Given the description of an element on the screen output the (x, y) to click on. 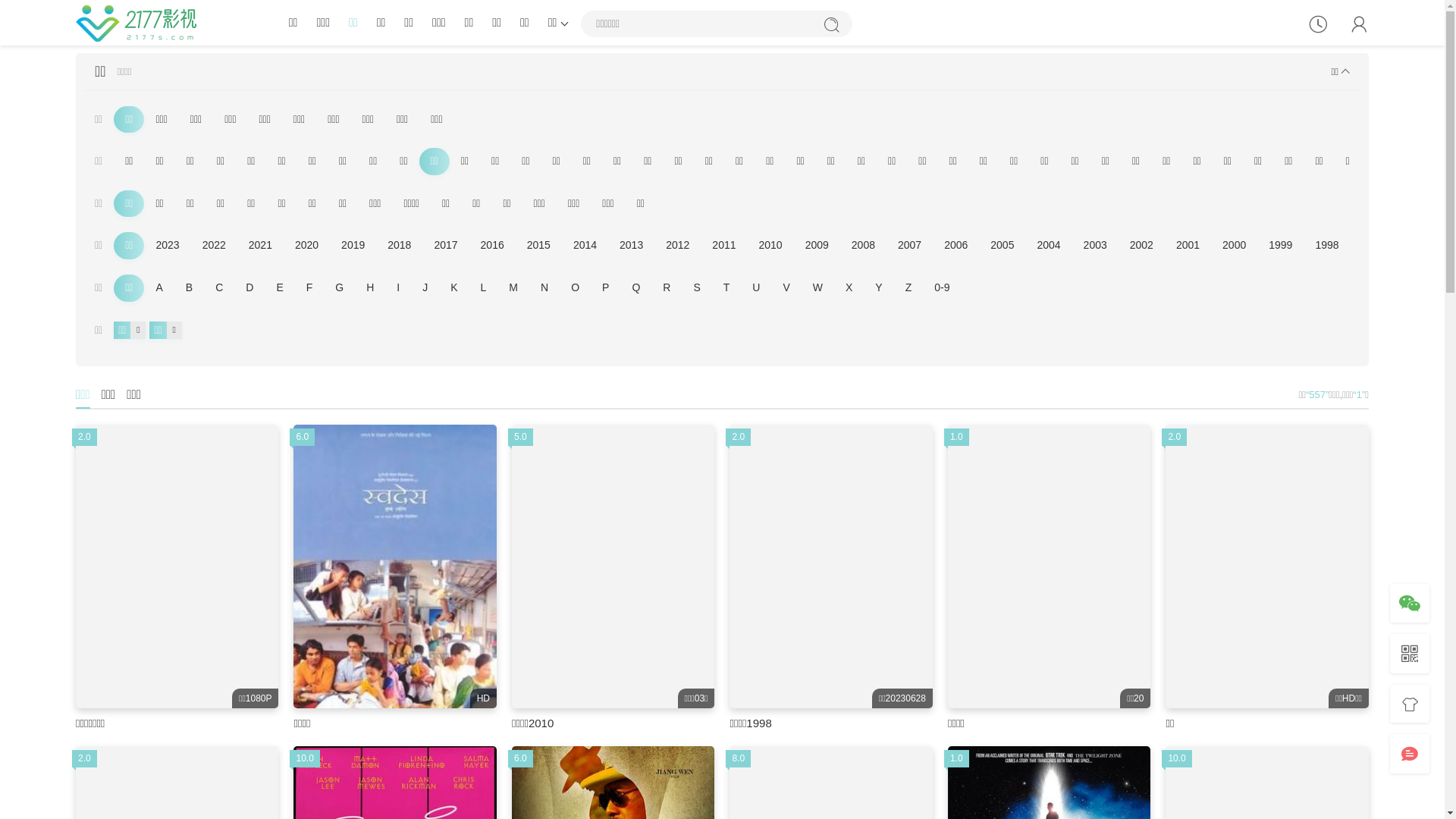
P Element type: text (605, 287)
G Element type: text (338, 287)
2009 Element type: text (816, 245)
E Element type: text (279, 287)
2022 Element type: text (214, 245)
A Element type: text (158, 287)
T Element type: text (726, 287)
2000 Element type: text (1234, 245)
2019 Element type: text (352, 245)
0-9 Element type: text (941, 287)
S Element type: text (696, 287)
W Element type: text (817, 287)
2010 Element type: text (770, 245)
2013 Element type: text (631, 245)
F Element type: text (309, 287)
J Element type: text (425, 287)
2020 Element type: text (306, 245)
Q Element type: text (635, 287)
N Element type: text (544, 287)
O Element type: text (574, 287)
I Element type: text (398, 287)
2018 Element type: text (399, 245)
2008 Element type: text (863, 245)
C Element type: text (218, 287)
M Element type: text (513, 287)
6.0
HD Element type: text (394, 566)
R Element type: text (666, 287)
U Element type: text (755, 287)
2021 Element type: text (260, 245)
Y Element type: text (878, 287)
K Element type: text (453, 287)
2006 Element type: text (955, 245)
L Element type: text (483, 287)
2012 Element type: text (677, 245)
X Element type: text (848, 287)
2003 Element type: text (1095, 245)
2015 Element type: text (538, 245)
2014 Element type: text (584, 245)
2001 Element type: text (1187, 245)
1998 Element type: text (1326, 245)
D Element type: text (249, 287)
B Element type: text (188, 287)
2004 Element type: text (1048, 245)
2023 Element type: text (167, 245)
2002 Element type: text (1141, 245)
2007 Element type: text (909, 245)
2016 Element type: text (492, 245)
H Element type: text (369, 287)
Z Element type: text (908, 287)
2011 Element type: text (723, 245)
V Element type: text (785, 287)
1999 Element type: text (1280, 245)
2005 Element type: text (1002, 245)
2017 Element type: text (445, 245)
